Given the description of an element on the screen output the (x, y) to click on. 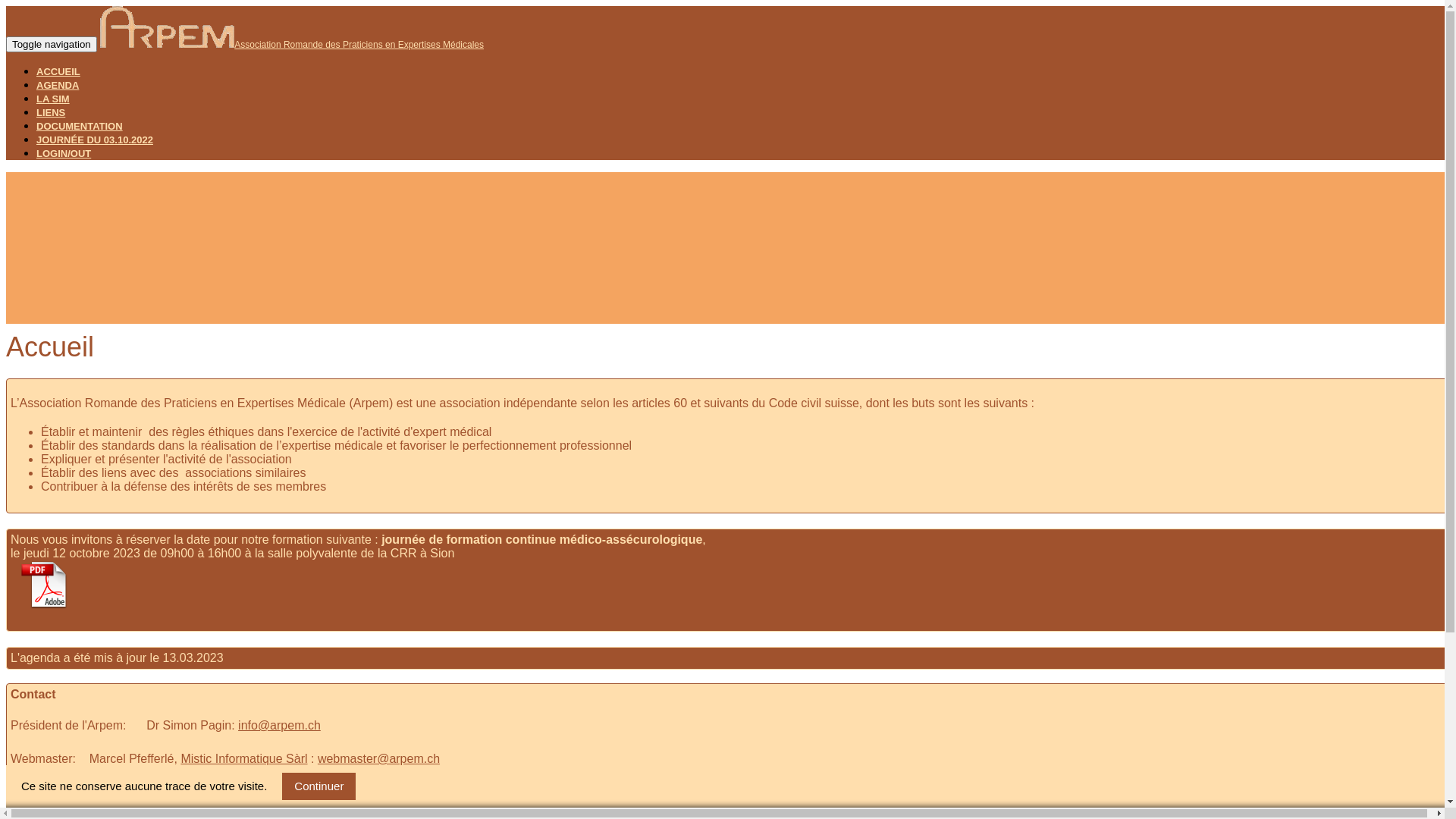
LA SIM Element type: text (52, 98)
titre Element type: hover (44, 604)
DOCUMENTATION Element type: text (79, 125)
LOGIN/OUT Element type: text (63, 153)
Toggle navigation Element type: text (51, 44)
webmaster@arpem.ch Element type: text (378, 758)
ACCUEIL Element type: text (58, 71)
AGENDA Element type: text (57, 85)
info@arpem.ch Element type: text (279, 724)
LIENS Element type: text (50, 112)
